Given the description of an element on the screen output the (x, y) to click on. 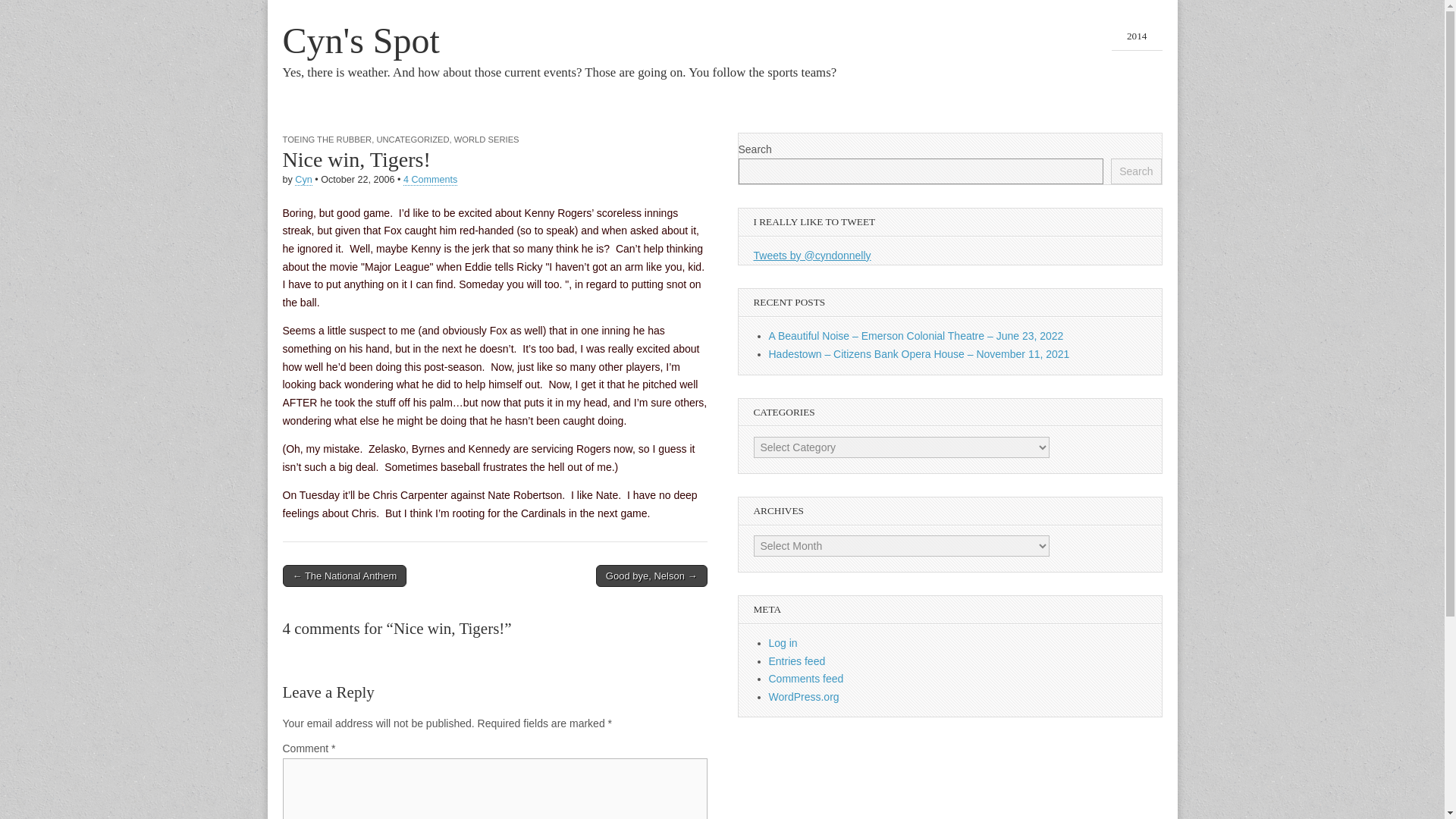
Cyn's Spot (360, 40)
TOEING THE RUBBER (326, 139)
Cyn (303, 179)
Entries feed (796, 661)
UNCATEGORIZED (411, 139)
Cyn's Spot (360, 40)
Log in (782, 643)
Search (1135, 171)
Posts by Cyn (303, 179)
WordPress.org (804, 696)
Comments feed (806, 678)
4 Comments (430, 179)
WORLD SERIES (486, 139)
